Given the description of an element on the screen output the (x, y) to click on. 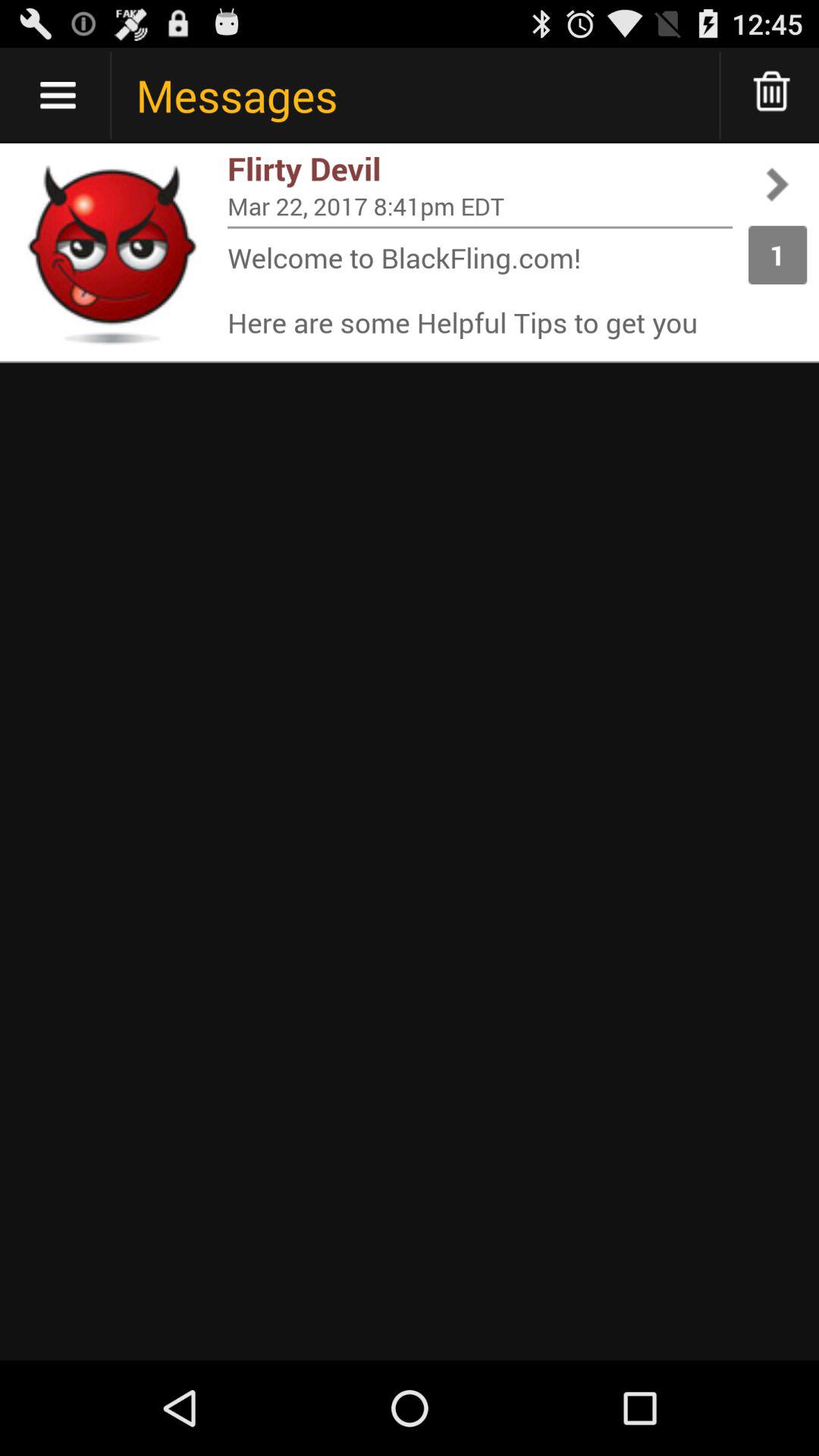
delete (772, 95)
